Given the description of an element on the screen output the (x, y) to click on. 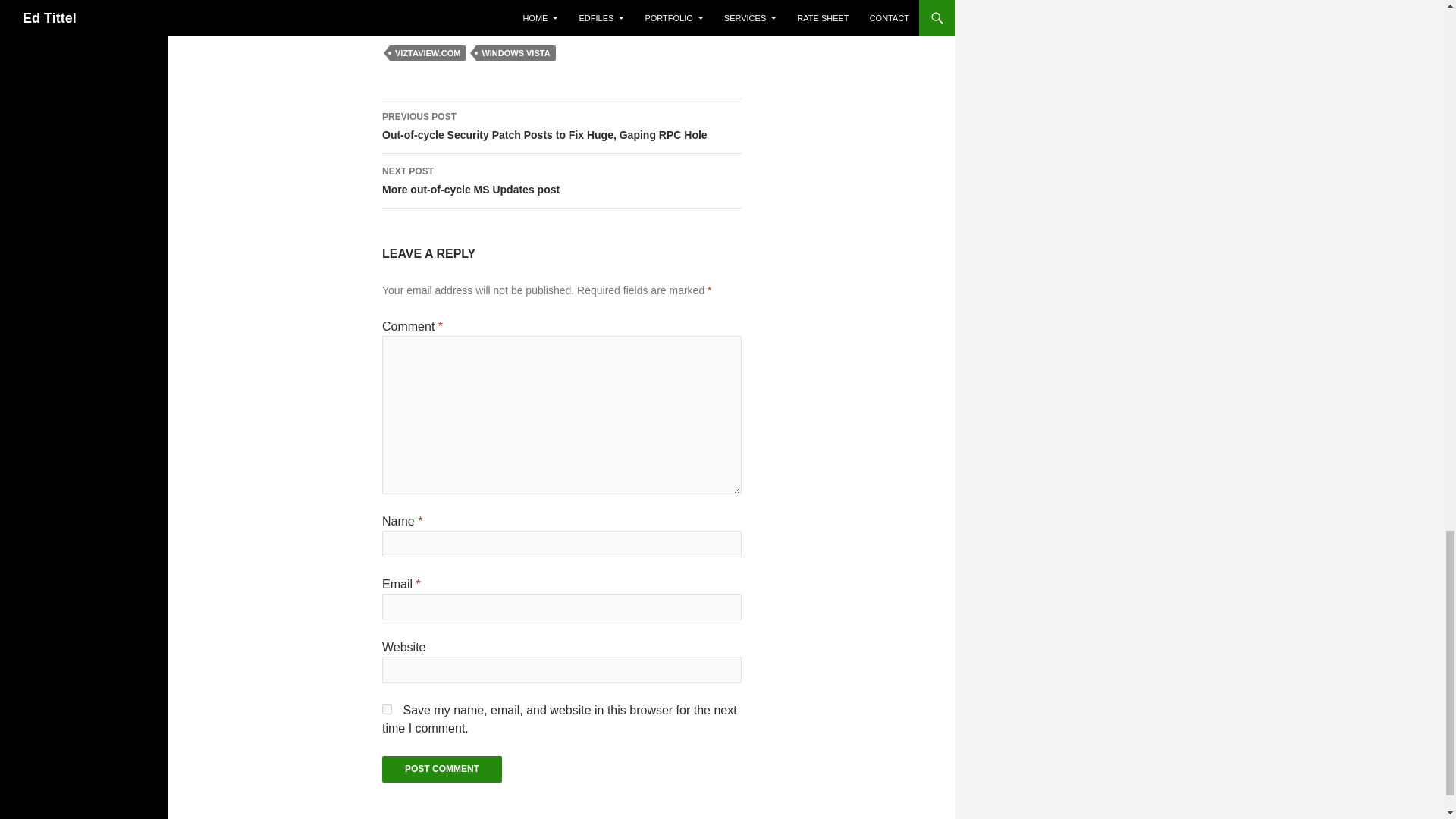
Post Comment (441, 768)
Share on Facebook (387, 15)
Share on Linkedin (403, 15)
yes (386, 709)
